Given the description of an element on the screen output the (x, y) to click on. 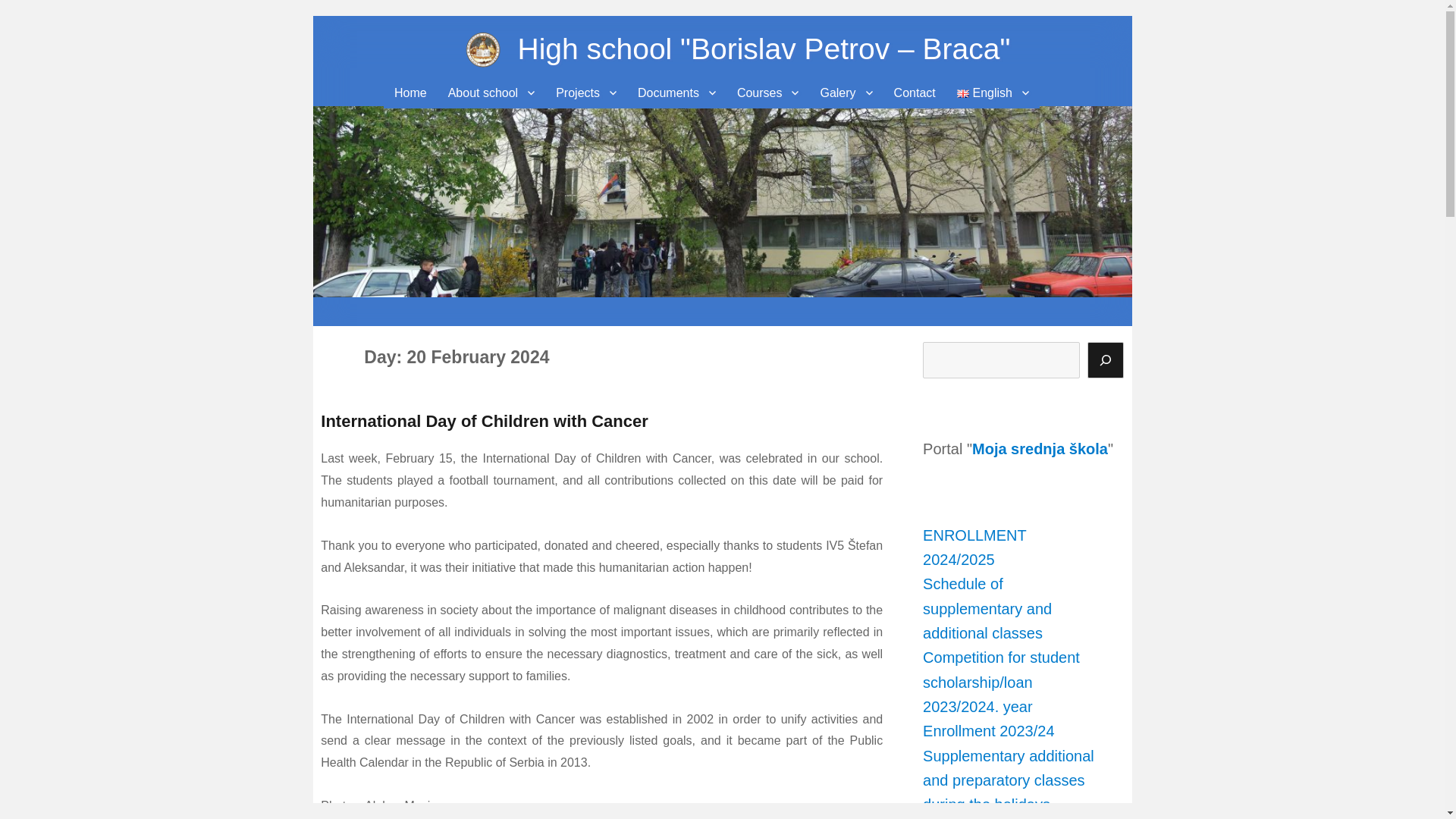
Projects (585, 92)
Home (411, 92)
Courses (767, 92)
Galery (845, 92)
Documents (676, 92)
About school (492, 92)
